Given the description of an element on the screen output the (x, y) to click on. 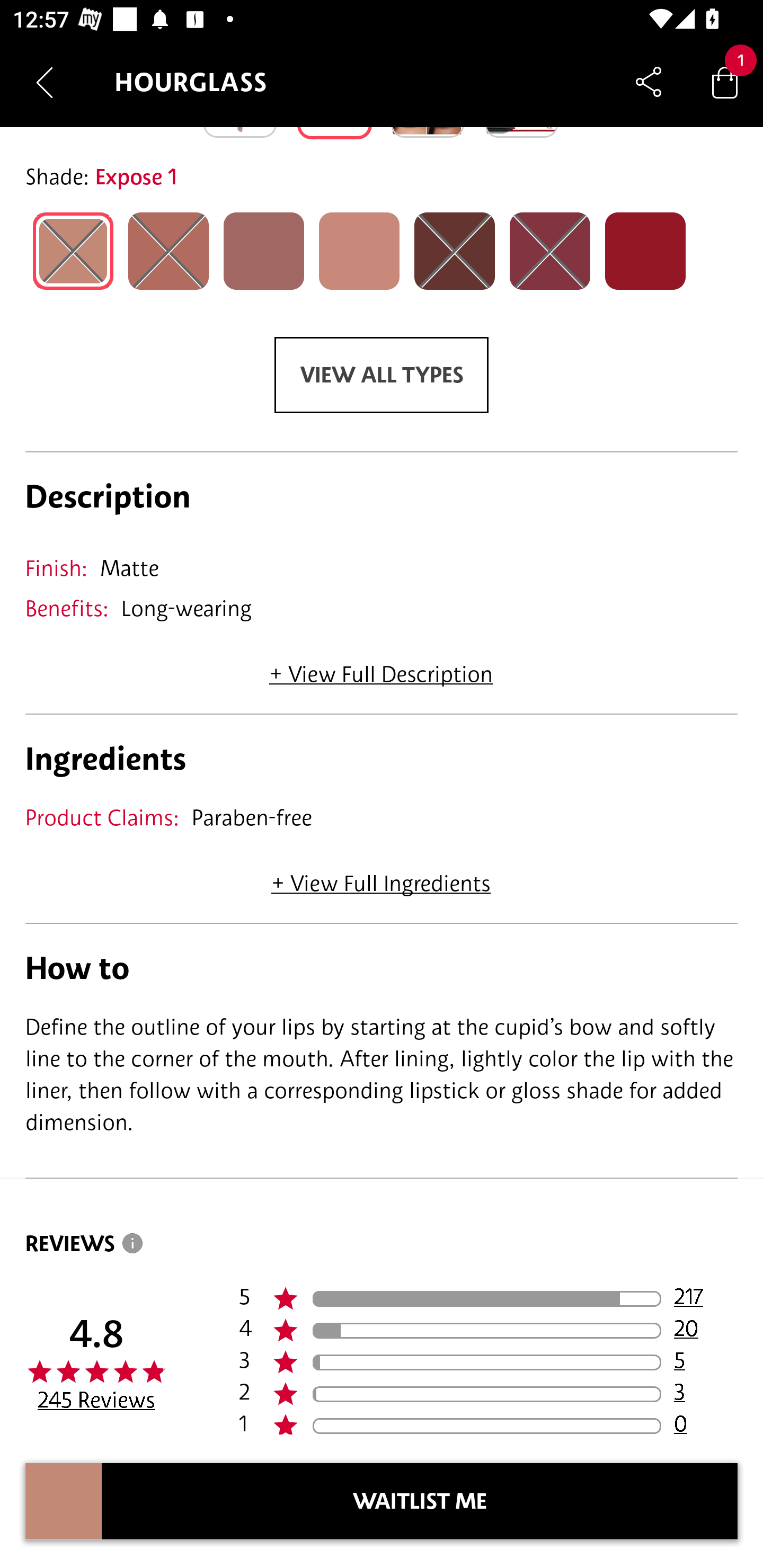
Navigate up (44, 82)
Share (648, 81)
Bag (724, 81)
VIEW ALL TYPES (381, 375)
+ View Full Description (380, 667)
+ View Full Ingredients (380, 876)
5 88.0 217 (487, 1298)
4 8.0 20 (487, 1330)
3 2.0 5 (487, 1362)
2 1.0 3 (487, 1393)
245 Reviews (96, 1400)
1 0.0 0 (487, 1421)
WAITLIST ME (419, 1500)
